Given the description of an element on the screen output the (x, y) to click on. 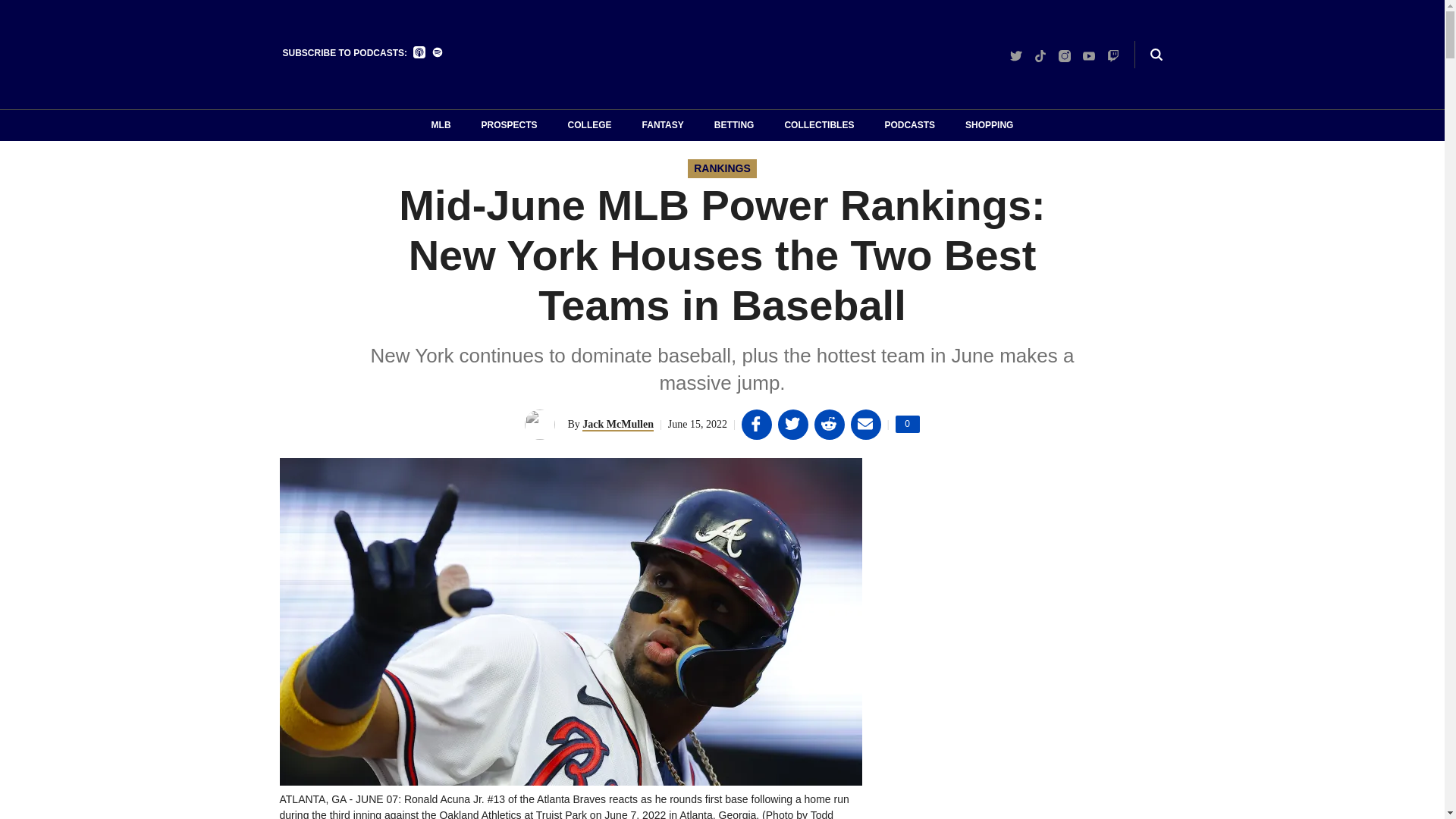
Twitter (907, 424)
PODCASTS (1015, 53)
SHOPPING (908, 125)
Twitch (989, 125)
PROSPECTS (1112, 53)
RANKINGS (509, 125)
TikTok (722, 168)
COLLECTIBLES (1039, 53)
Jack McMullen (818, 125)
